Given the description of an element on the screen output the (x, y) to click on. 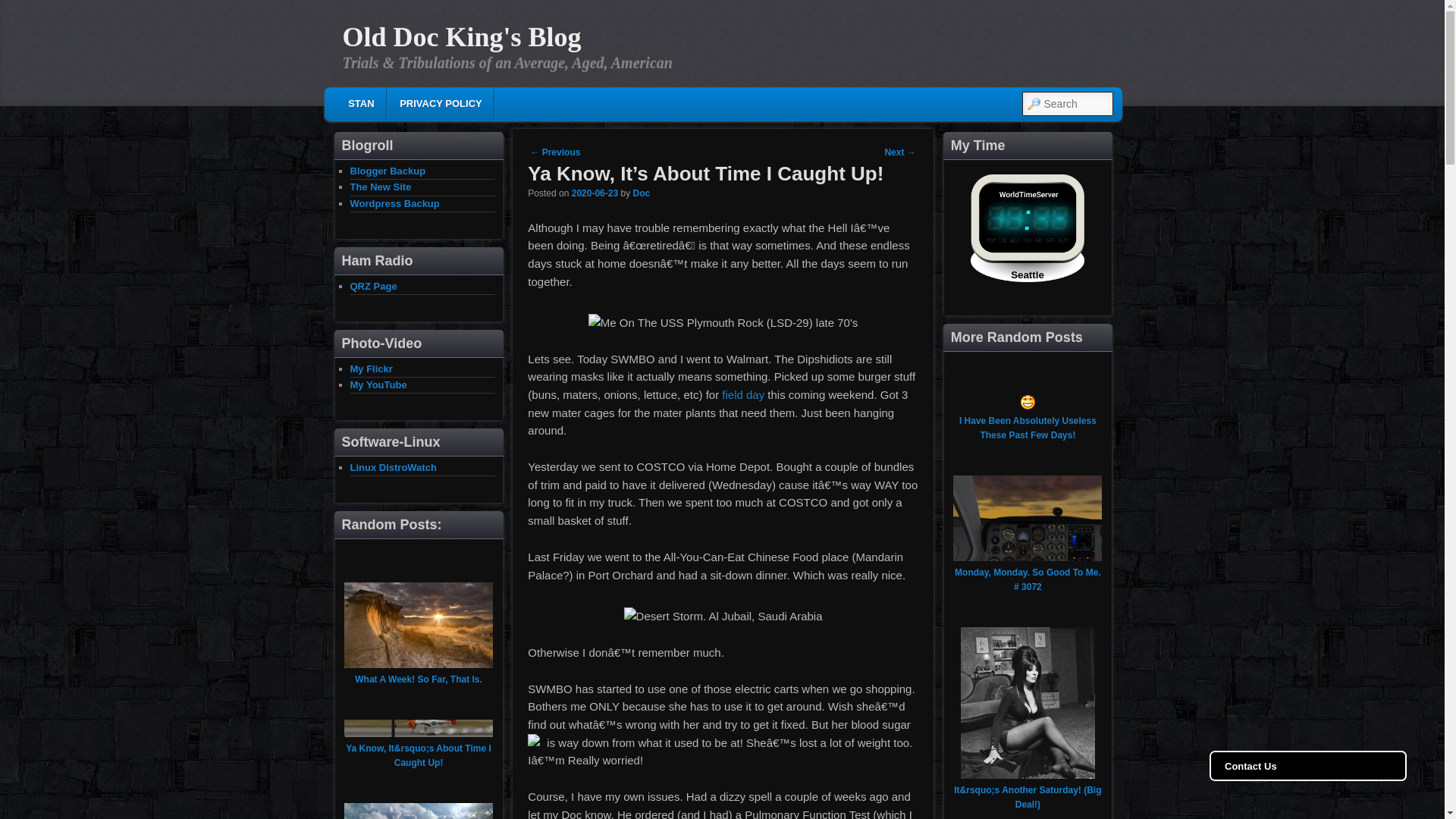
Old Doc King's Blog (461, 37)
SKIP TO SECONDARY CONTENT (445, 106)
Skip to primary content (435, 106)
Blogger Backup (388, 170)
QRZ Page (373, 285)
2020-06-23 (594, 193)
1725 (594, 193)
PRIVACY POLICY (440, 103)
SKIP TO PRIMARY CONTENT (435, 106)
Linux DistroWatch (393, 467)
What A Week! So Far, That Is. (418, 679)
My YouTube (378, 384)
Wordpress Backup (394, 203)
View all posts by Doc (640, 193)
The New Site (381, 186)
